Given the description of an element on the screen output the (x, y) to click on. 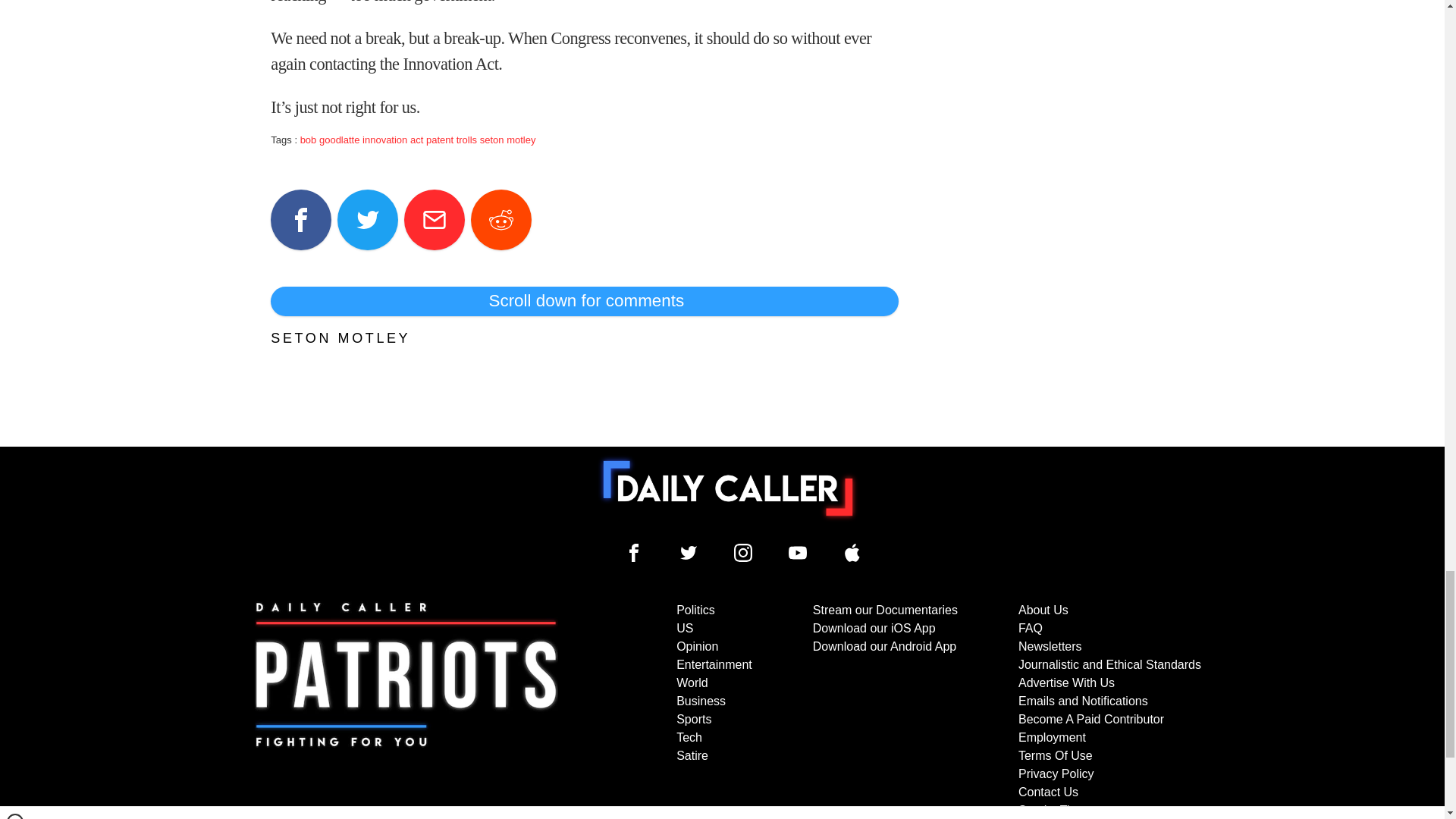
Daily Caller Instagram (742, 552)
Scroll down for comments (584, 300)
Daily Caller YouTube (852, 552)
Daily Caller Facebook (633, 552)
To home page (727, 488)
Subscribe to The Daily Caller (405, 710)
Daily Caller Twitter (688, 552)
Daily Caller YouTube (797, 552)
